Given the description of an element on the screen output the (x, y) to click on. 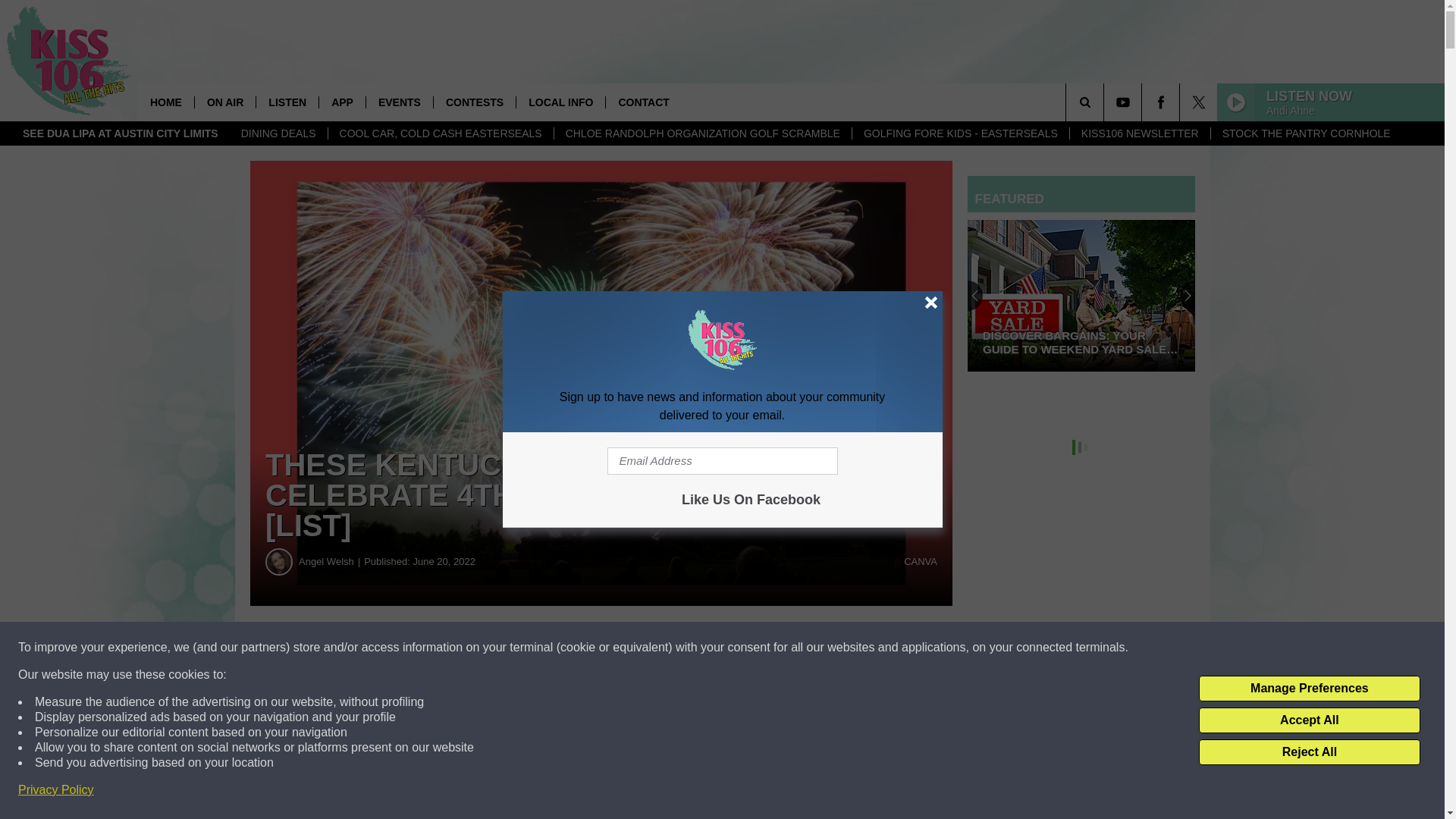
SEARCH (1106, 102)
Accept All (1309, 720)
Reject All (1309, 751)
SEE DUA LIPA AT AUSTIN CITY LIMITS (120, 133)
GOLFING FORE KIDS - EASTERSEALS (959, 133)
Manage Preferences (1309, 688)
KISS106 NEWSLETTER (1138, 133)
SEARCH (1106, 102)
Share on Twitter (741, 647)
STOCK THE PANTRY CORNHOLE (1305, 133)
COOL CAR, COLD CASH EASTERSEALS (440, 133)
LISTEN (287, 102)
DINING DEALS (278, 133)
Share on Facebook (460, 647)
ON AIR (224, 102)
